Given the description of an element on the screen output the (x, y) to click on. 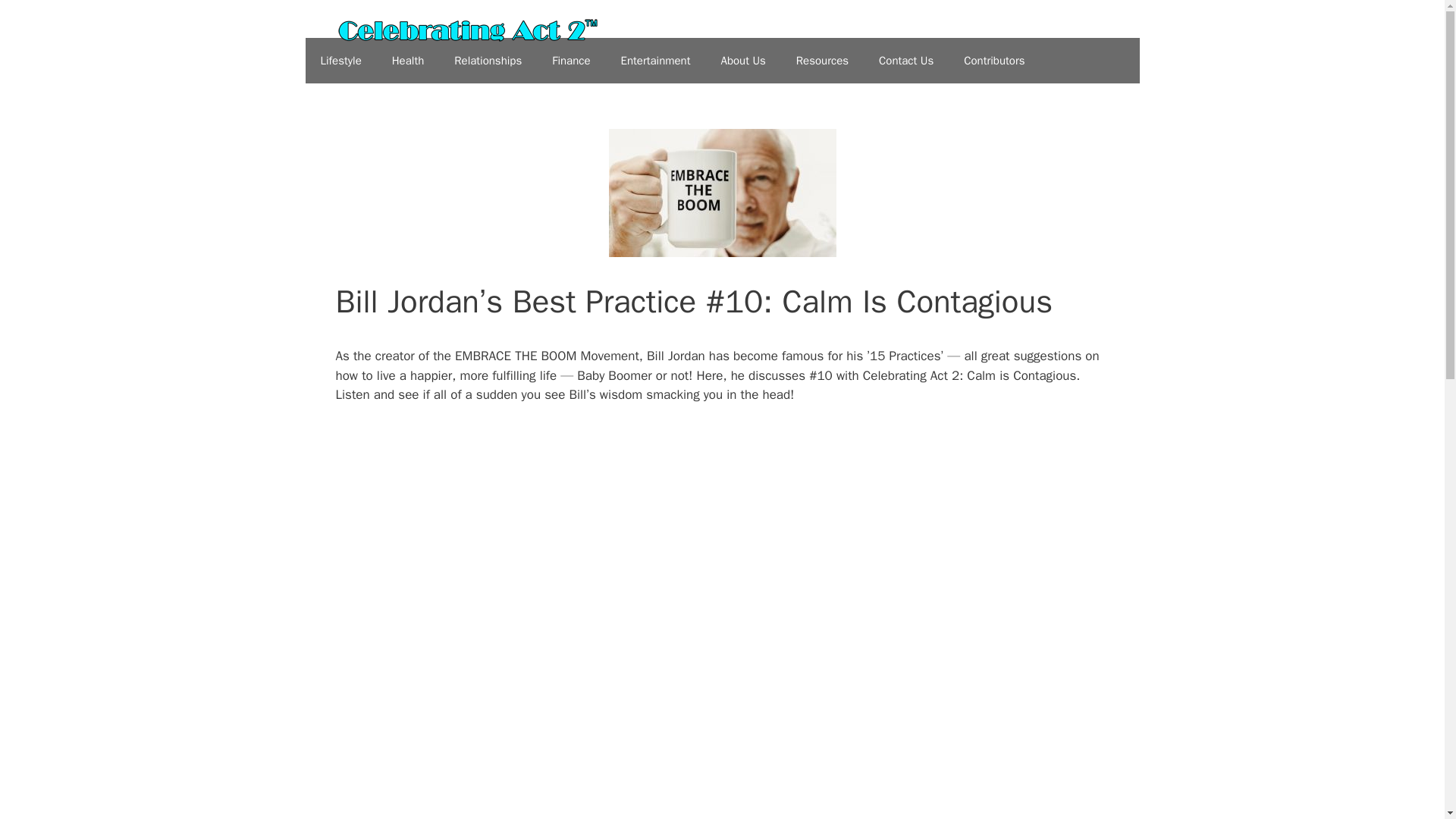
Resources (821, 60)
Health (408, 60)
About Us (742, 60)
Contributors (994, 60)
Relationships (488, 60)
Contact Us (906, 60)
Finance (571, 60)
Entertainment (655, 60)
Lifestyle (339, 60)
